Given the description of an element on the screen output the (x, y) to click on. 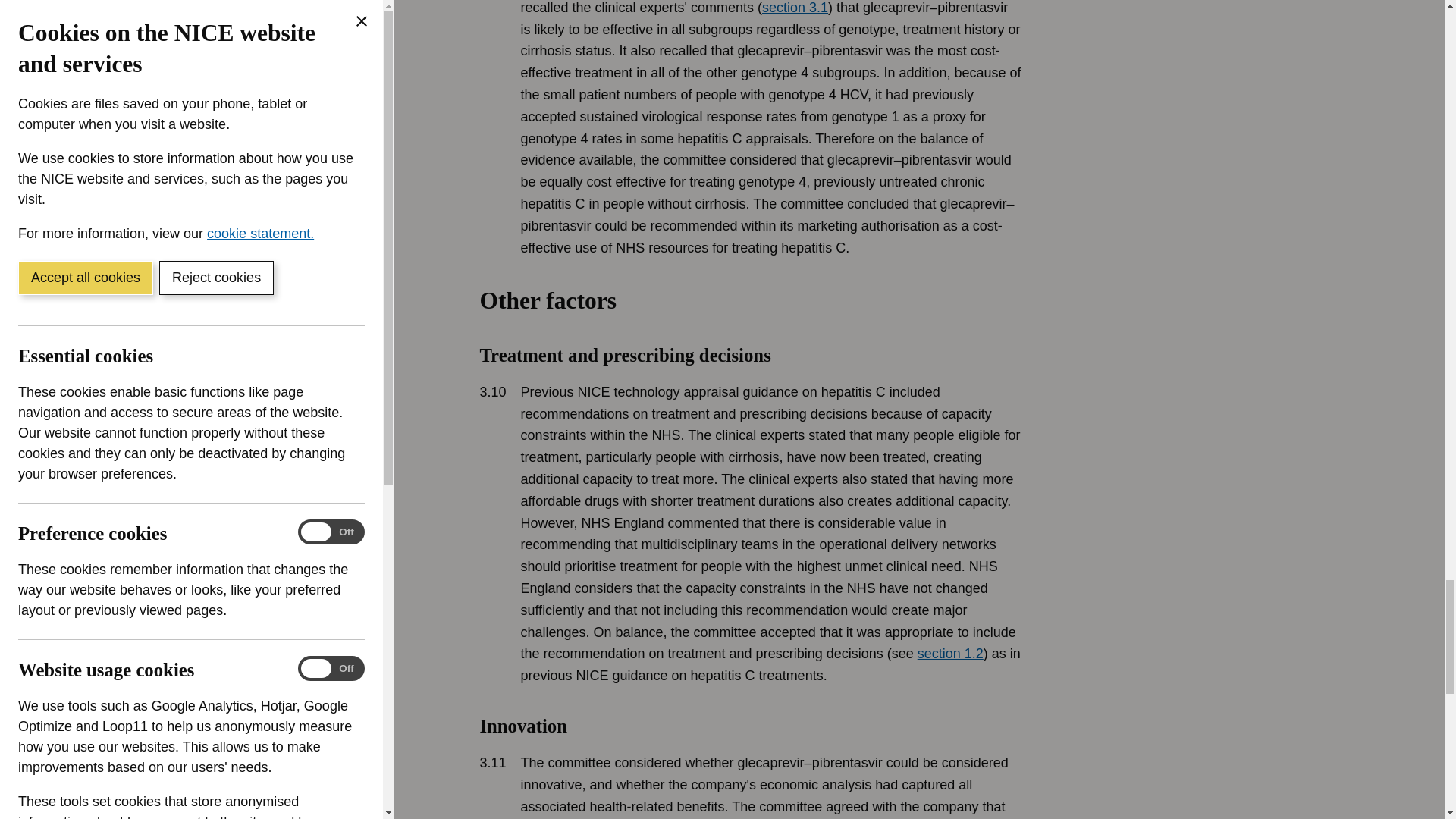
Innovation (850, 766)
